Given the description of an element on the screen output the (x, y) to click on. 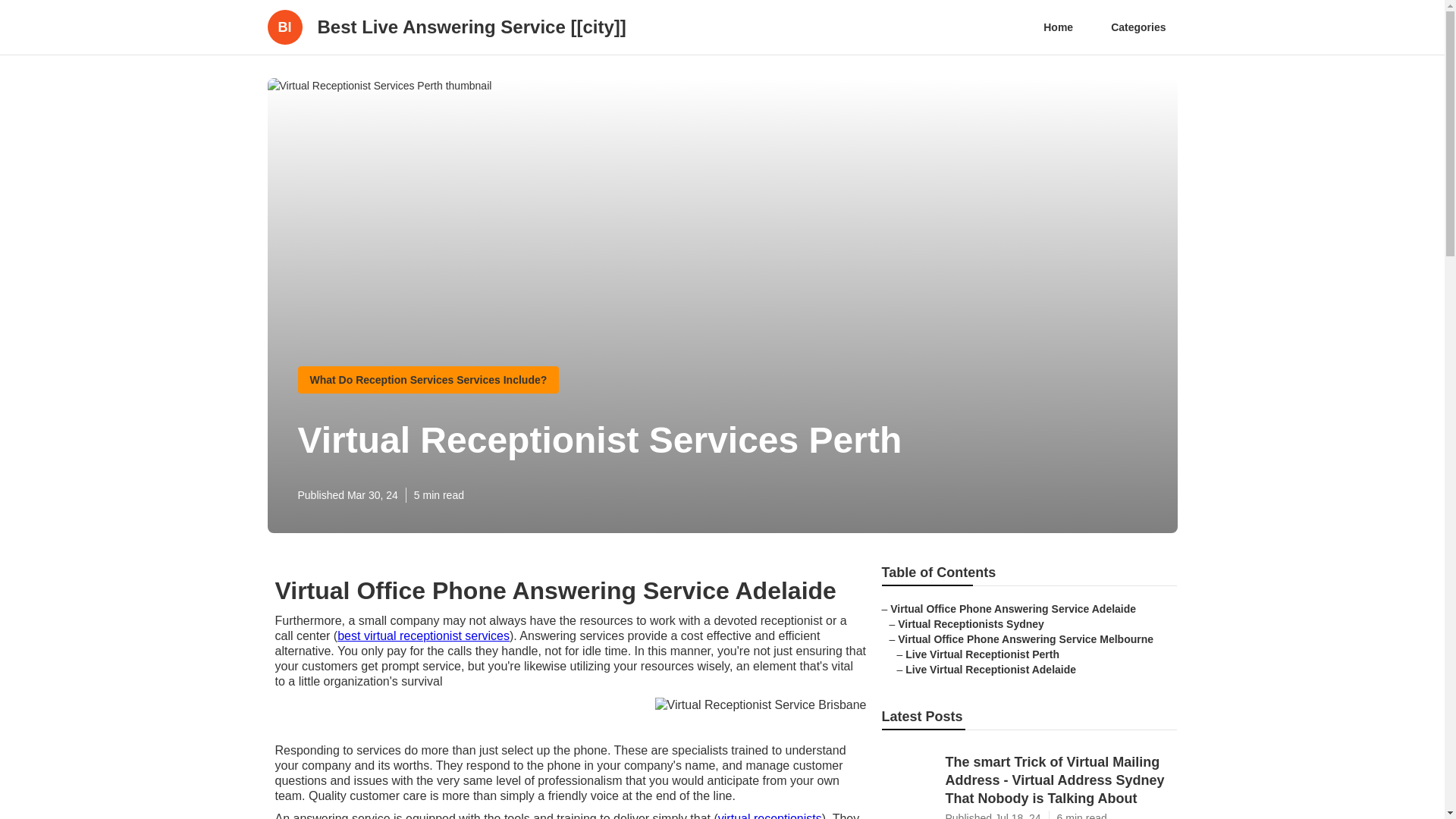
best virtual receptionist services (423, 635)
Live Virtual Receptionist Adelaide (990, 669)
Home (1058, 27)
Live Virtual Receptionist Perth (982, 654)
Virtual Office Phone Answering Service Melbourne (1025, 639)
Virtual Receptionists Sydney (970, 623)
What Do Reception Services Services Include? (427, 379)
virtual receptionists (769, 815)
Virtual Office Phone Answering Service Adelaide (1012, 608)
